Given the description of an element on the screen output the (x, y) to click on. 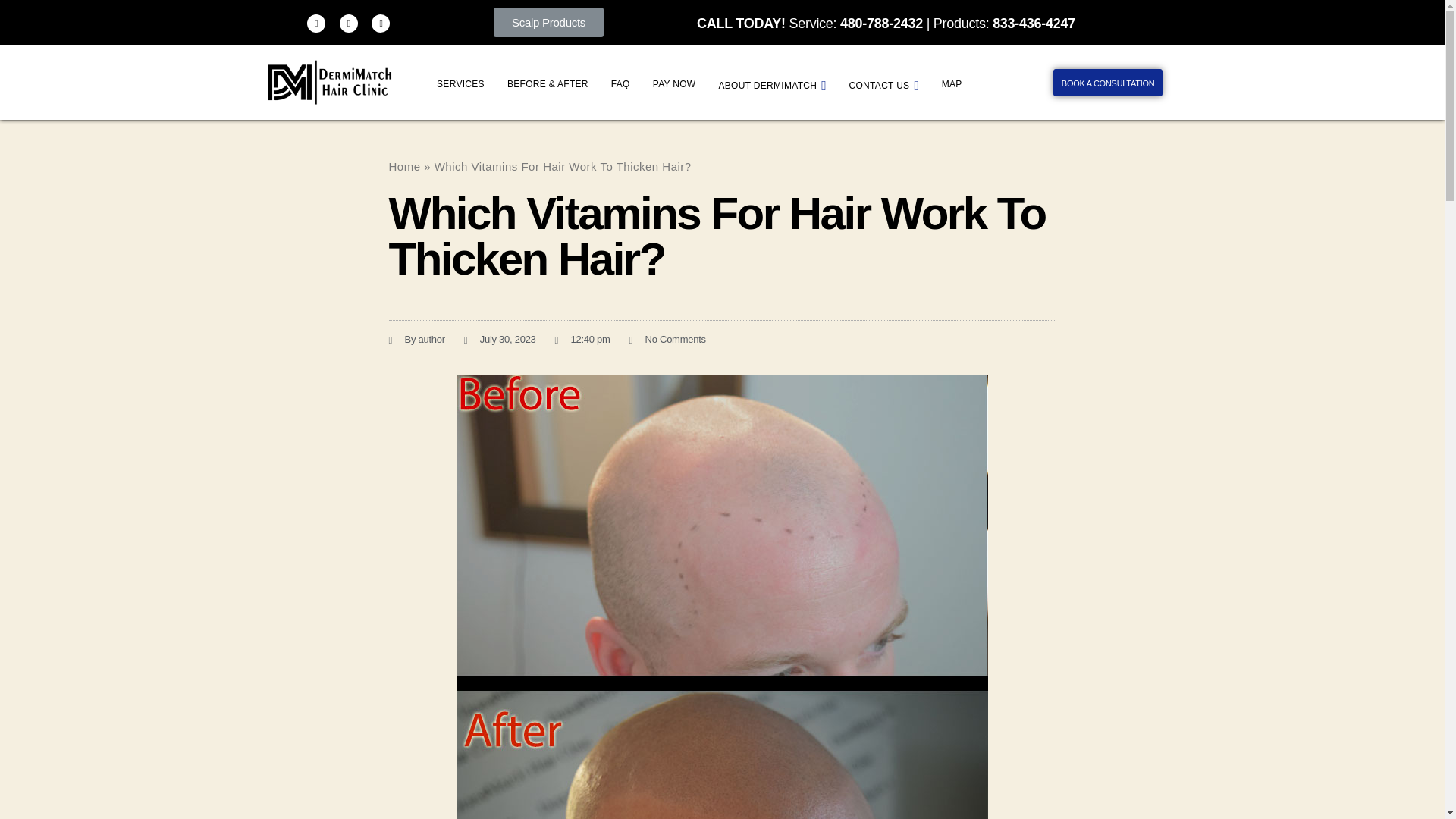
PAY NOW (674, 83)
ABOUT DERMIMATCH (771, 85)
BOOK A CONSULTATION (1107, 82)
July 30, 2023 (499, 339)
Home (404, 165)
By author (416, 339)
Scalp Products (548, 21)
MAP (952, 83)
CONTACT US (884, 85)
SERVICES (460, 83)
FAQ (620, 83)
No Comments (667, 339)
